Given the description of an element on the screen output the (x, y) to click on. 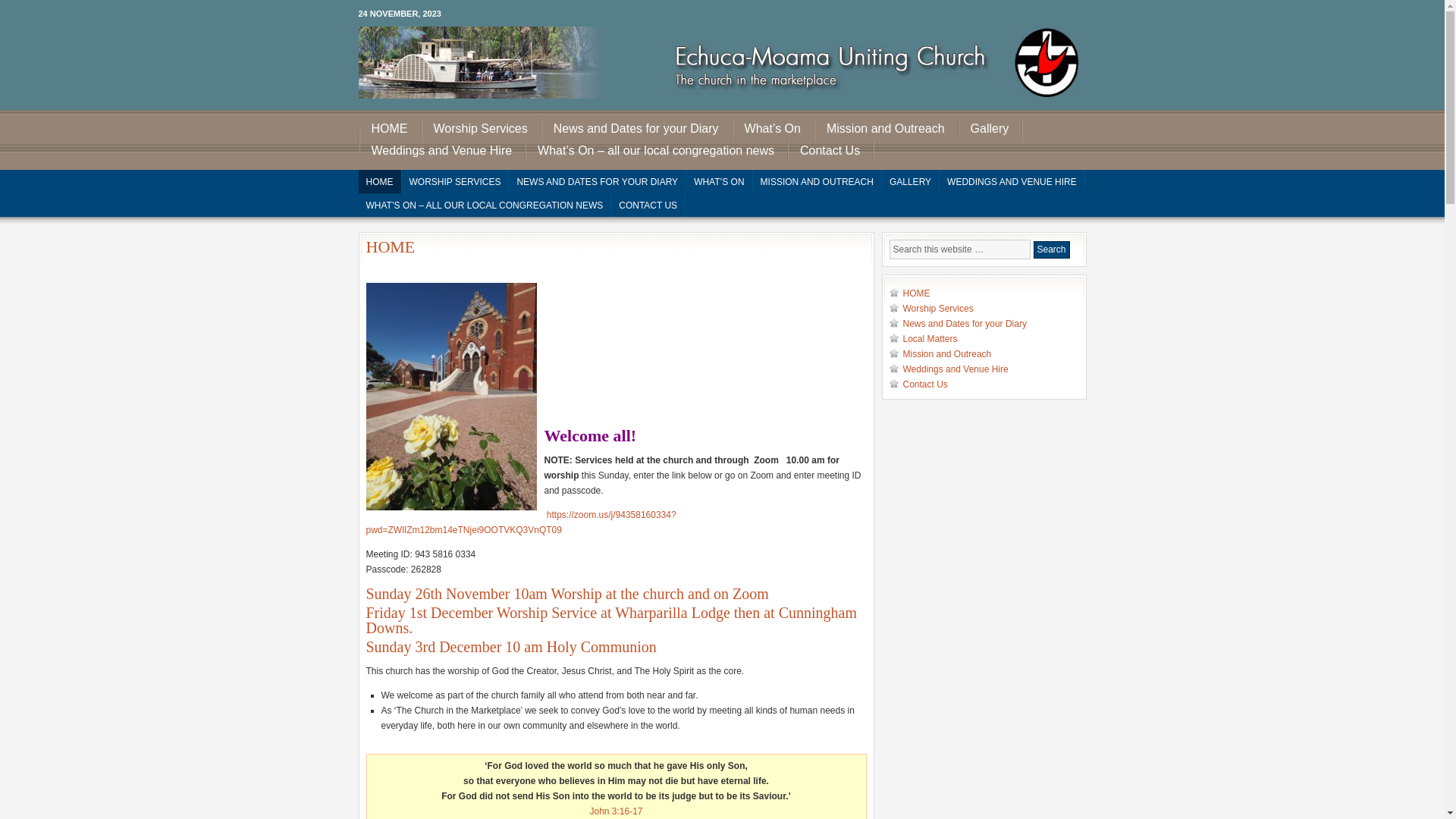
Contact Us Element type: text (831, 151)
MISSION AND OUTREACH Element type: text (817, 181)
HOME Element type: text (915, 293)
WORSHIP SERVICES Element type: text (455, 181)
WEDDINGS AND VENUE HIRE Element type: text (1012, 181)
Contact Us Element type: text (924, 384)
Mission and Outreach Element type: text (946, 353)
Worship Services Element type: text (937, 308)
News and Dates for your Diary Element type: text (637, 129)
Local Matters Element type: text (929, 338)
HOME Element type: text (379, 181)
Weddings and Venue Hire Element type: text (442, 151)
Mission and Outreach Element type: text (887, 129)
John 3:16-17 Element type: text (615, 811)
Gallery Element type: text (991, 129)
Weddings and Venue Hire Element type: text (954, 369)
Search Element type: text (1050, 249)
Echuca Moama Uniting Church Element type: text (721, 67)
HOME Element type: text (390, 129)
NEWS AND DATES FOR YOUR DIARY Element type: text (597, 181)
Worship Services Element type: text (481, 129)
GALLERY Element type: text (910, 181)
News and Dates for your Diary Element type: text (964, 323)
CONTACT US Element type: text (648, 204)
